Given the description of an element on the screen output the (x, y) to click on. 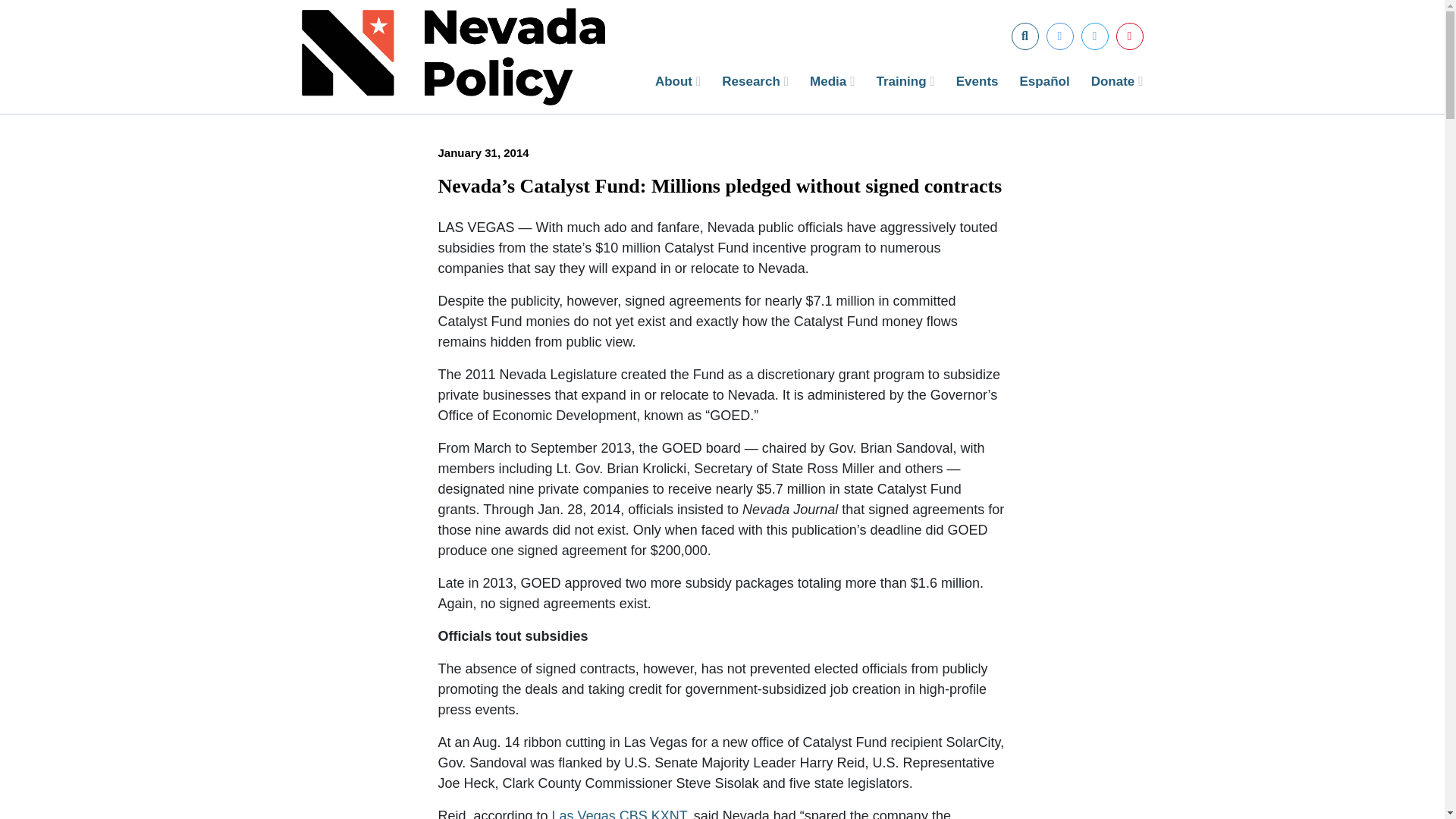
Training (905, 80)
Facebook (1060, 35)
About (677, 80)
Media (831, 80)
Events (977, 80)
Las Vegas CBS KXNT (618, 813)
Toggle Search (1025, 35)
Twitter (1094, 35)
Donate (1116, 80)
Research (755, 80)
YouTube (1129, 35)
